Given the description of an element on the screen output the (x, y) to click on. 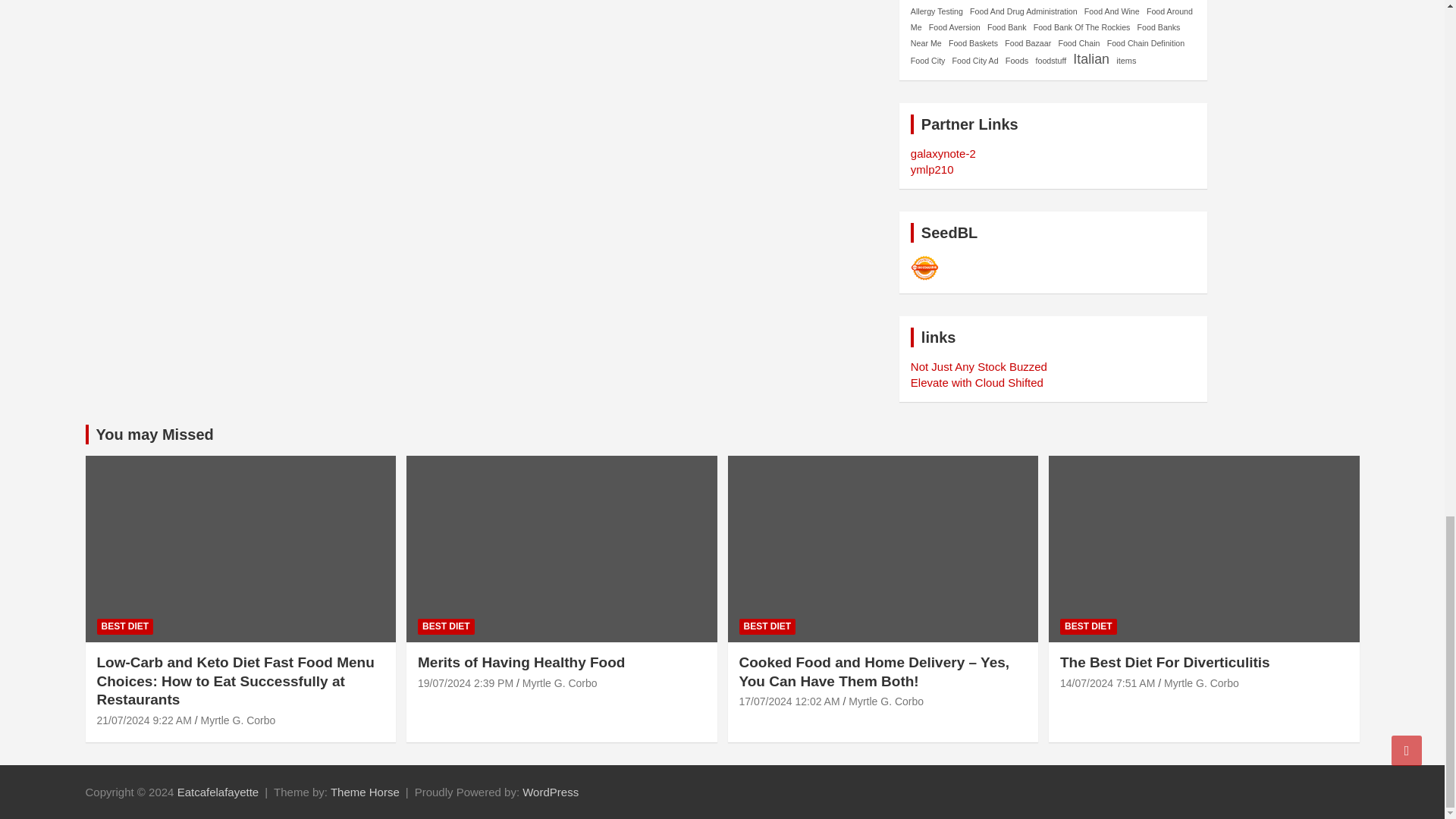
The Best Diet For Diverticulitis (1106, 683)
Seedbacklink (925, 267)
Eatcafelafayette (218, 791)
Merits of Having Healthy Food (465, 683)
